Given the description of an element on the screen output the (x, y) to click on. 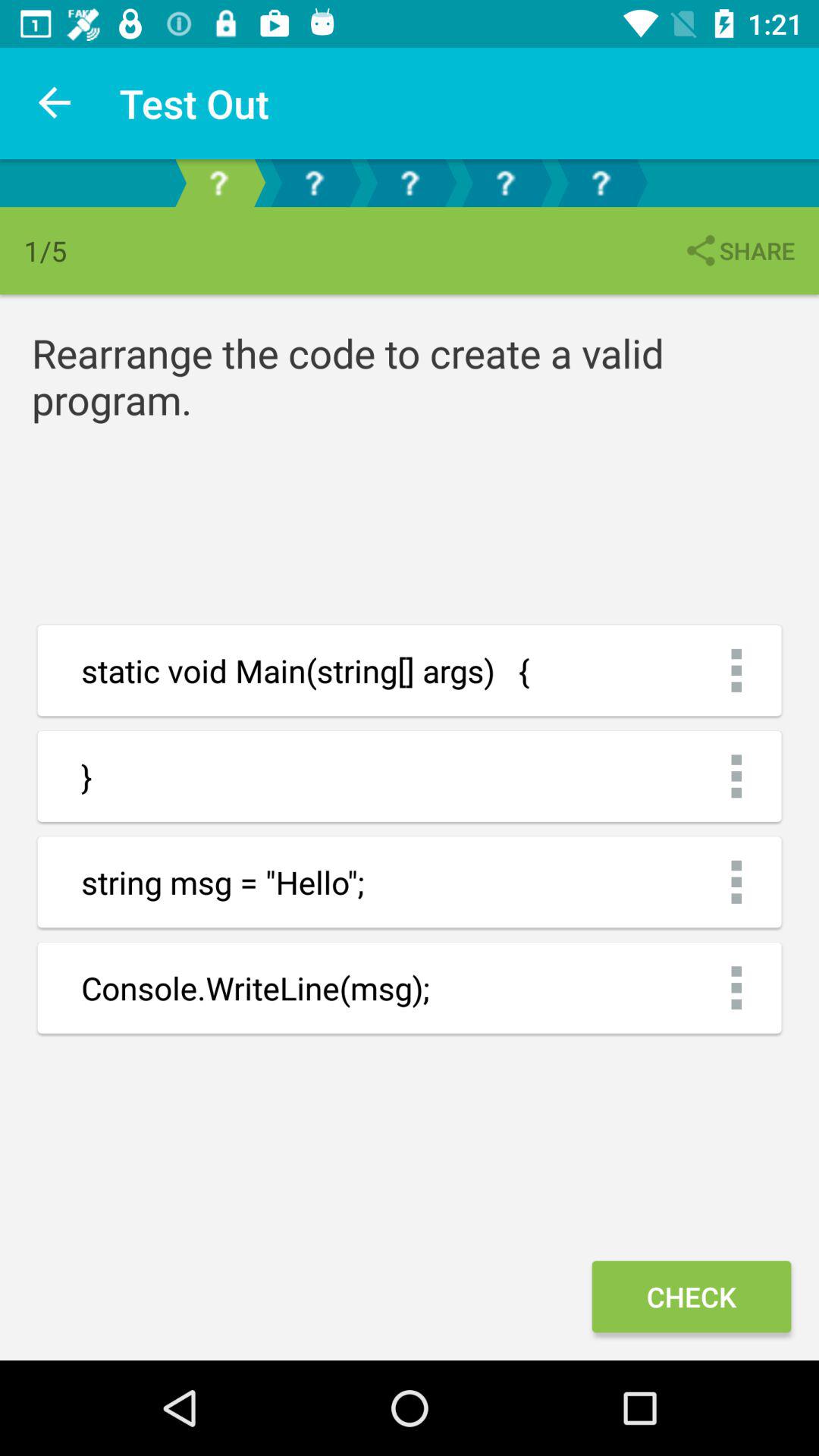
step 4 (504, 183)
